Given the description of an element on the screen output the (x, y) to click on. 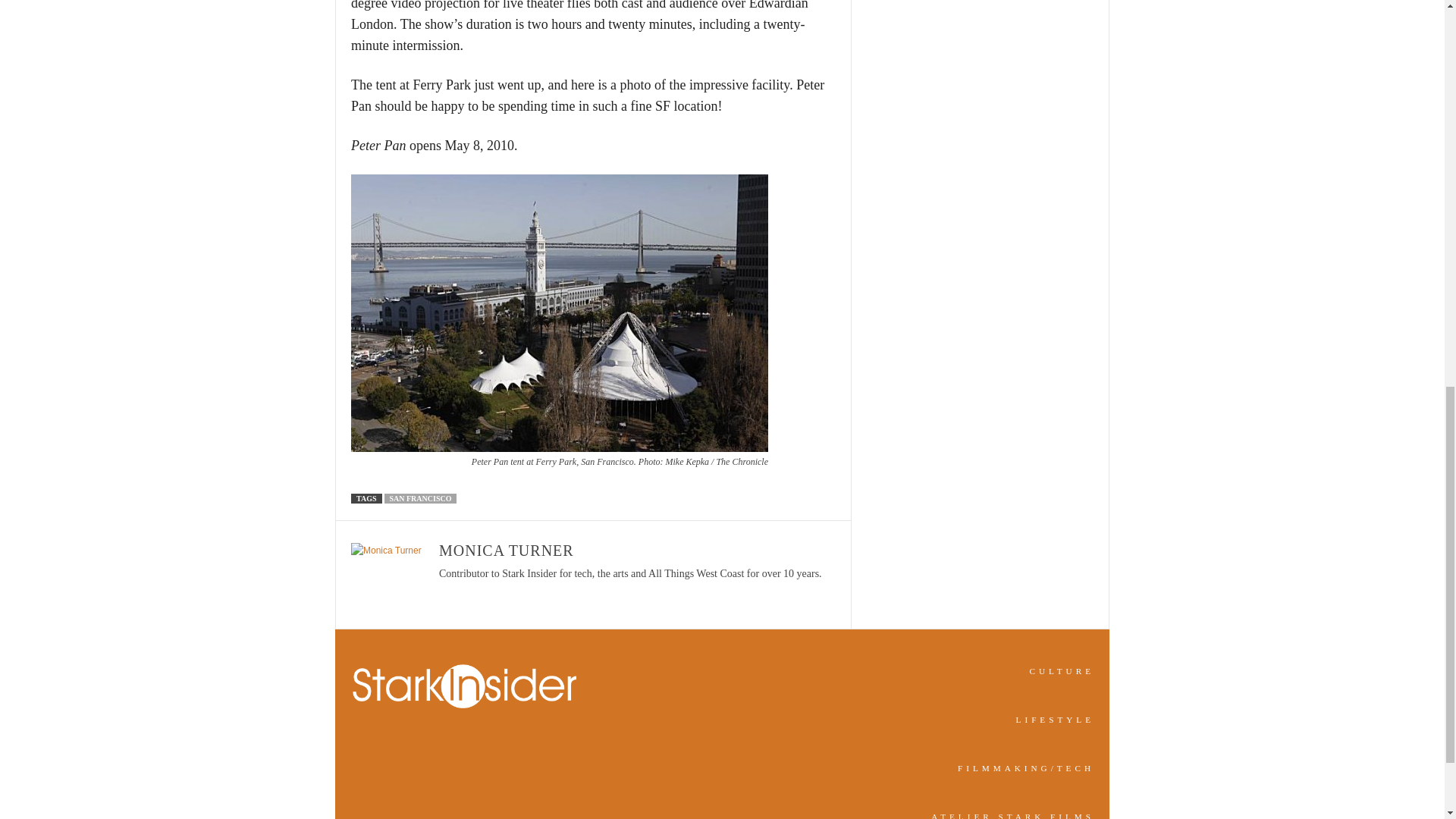
ATELIER STARK FILMS (1012, 815)
CULTURE (1061, 670)
Peter-Pan-Tent (559, 313)
MONICA TURNER (506, 550)
LIFESTYLE (1055, 718)
SAN FRANCISCO (420, 498)
